Given the description of an element on the screen output the (x, y) to click on. 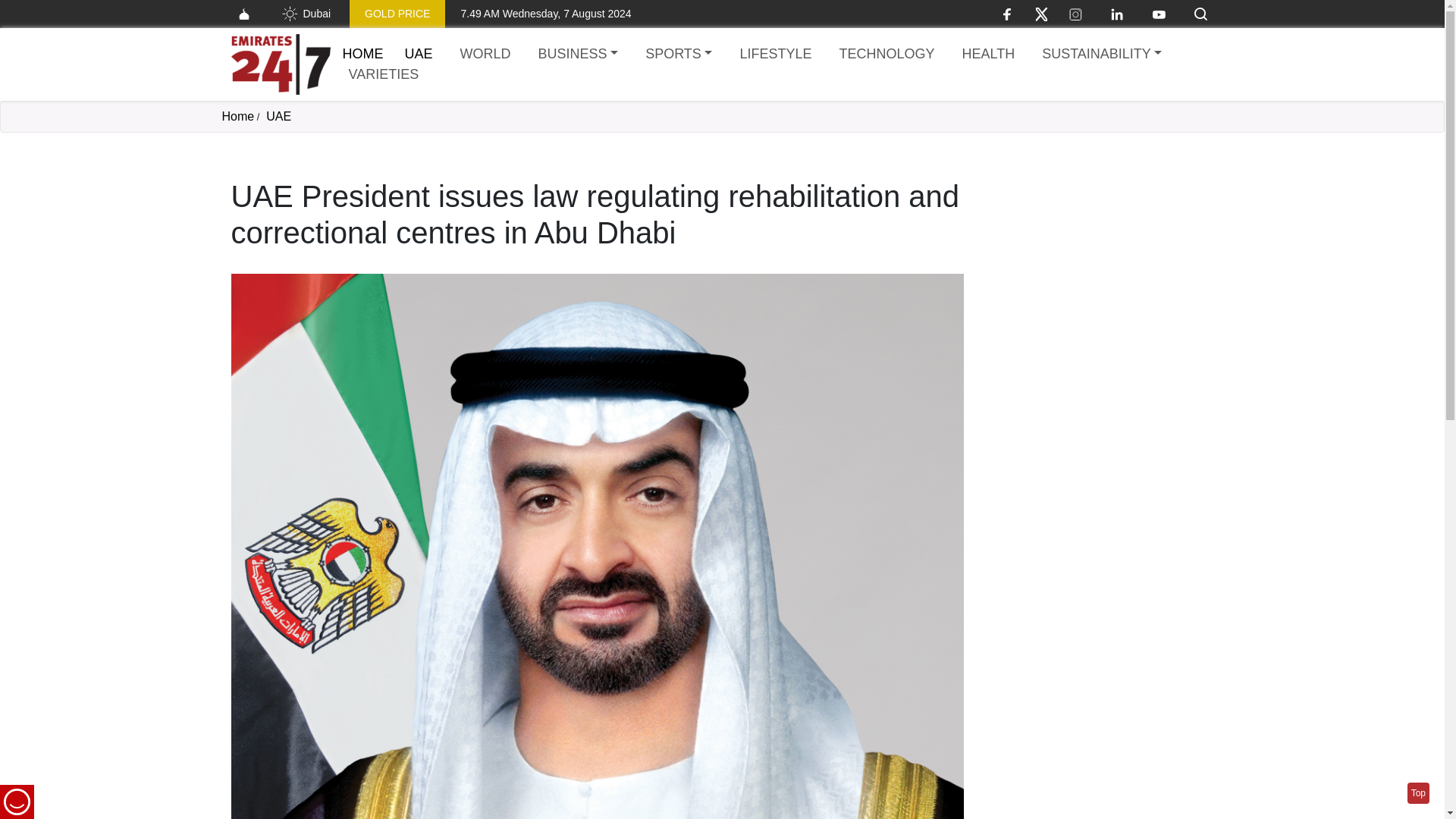
GOLD PRICE (397, 13)
UAE (418, 54)
VARIETIES (383, 74)
Home (363, 53)
WORLD (485, 54)
Home (237, 115)
Home (280, 64)
SUSTAINABILITY (1101, 54)
BUSINESS (578, 54)
Dubai (305, 13)
UAE (278, 115)
SPORTS (678, 54)
LIFESTYLE (774, 54)
HEALTH (987, 54)
HOME (363, 53)
